Given the description of an element on the screen output the (x, y) to click on. 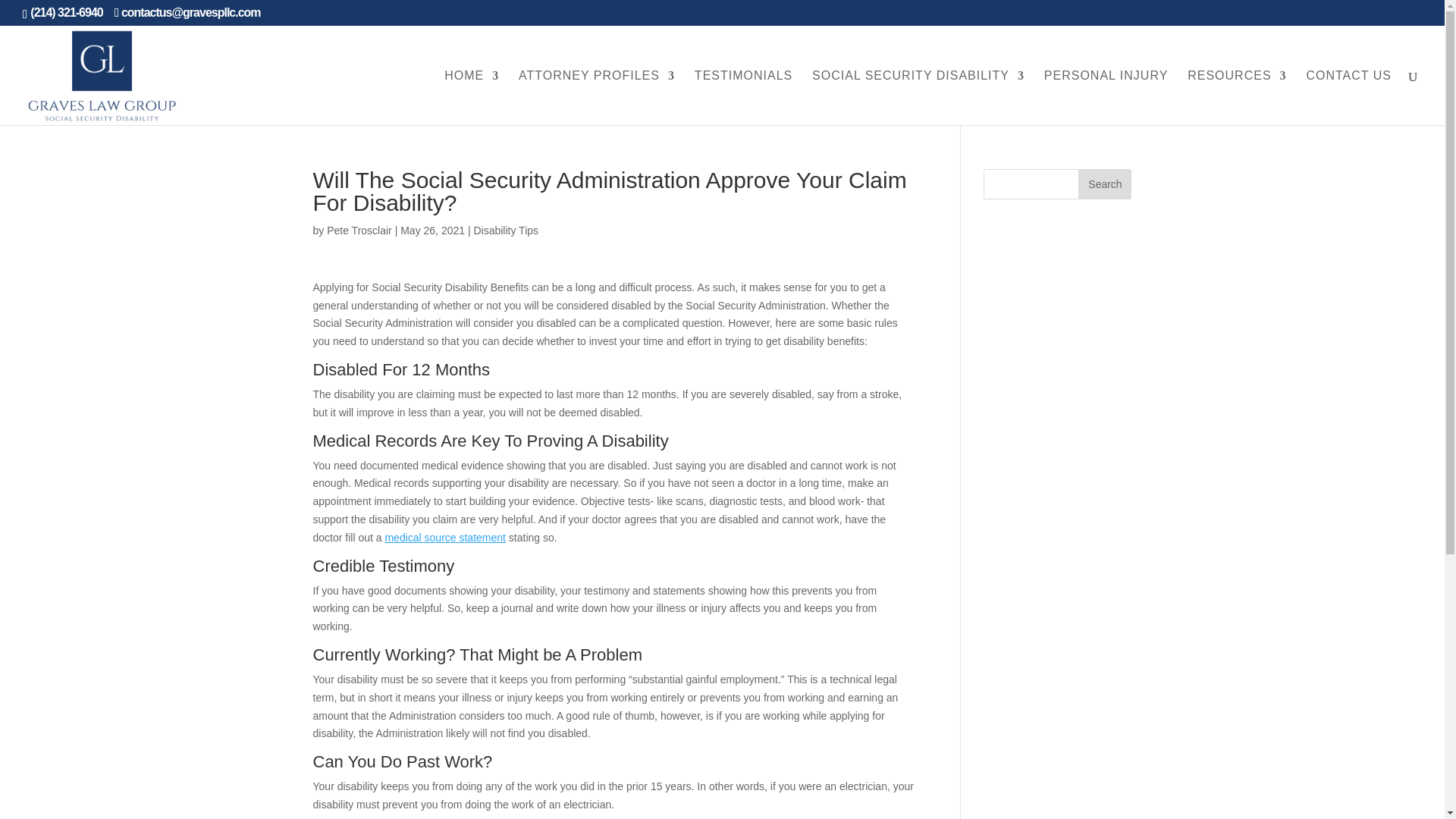
Search (1104, 183)
PERSONAL INJURY (1105, 97)
CONTACT US (1348, 97)
SOCIAL SECURITY DISABILITY (918, 97)
RESOURCES (1236, 97)
TESTIMONIALS (743, 97)
Posts by Pete Trosclair (358, 230)
HOME (471, 97)
ATTORNEY PROFILES (596, 97)
